Given the description of an element on the screen output the (x, y) to click on. 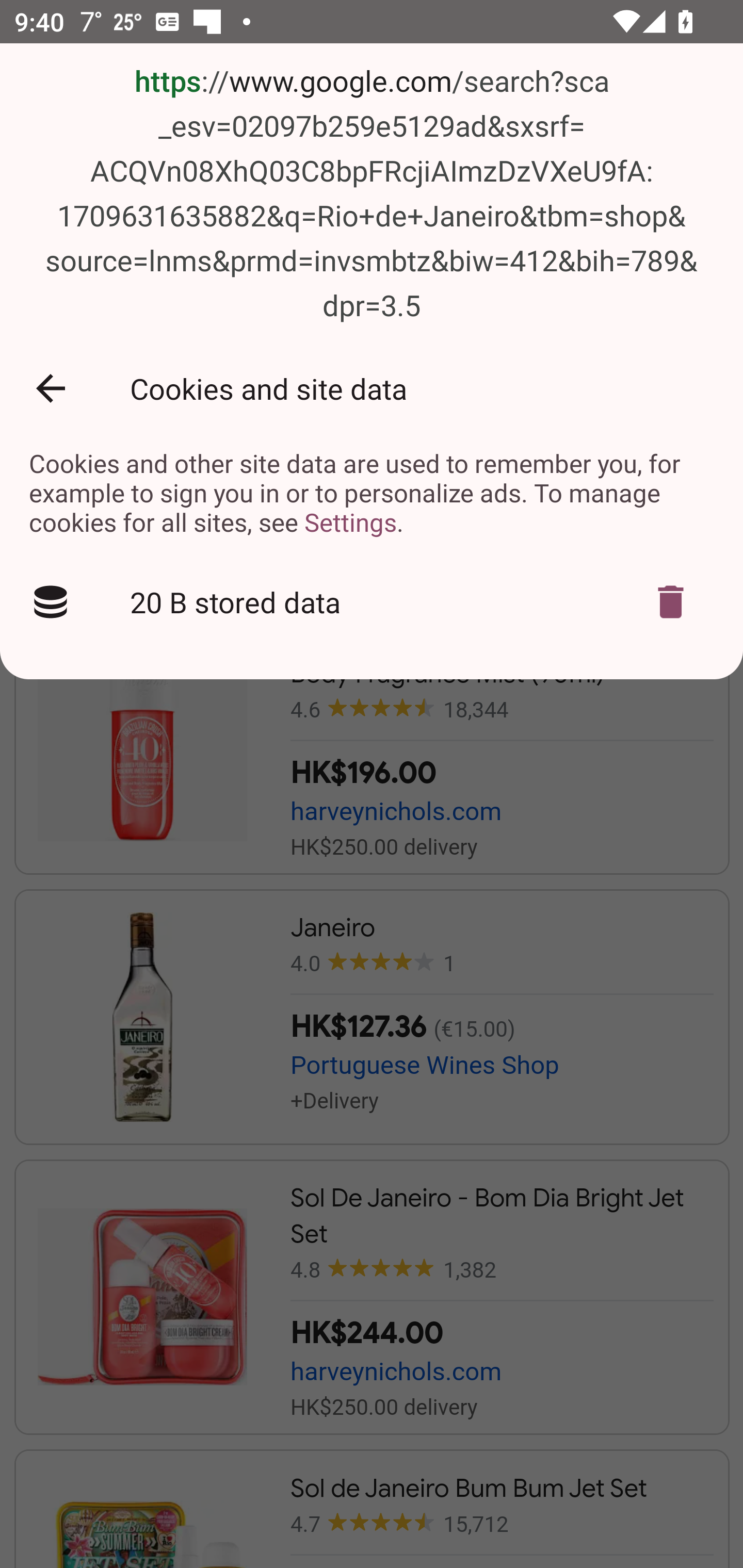
Back (50, 387)
20 B stored data Delete cookies? (371, 601)
